Given the description of an element on the screen output the (x, y) to click on. 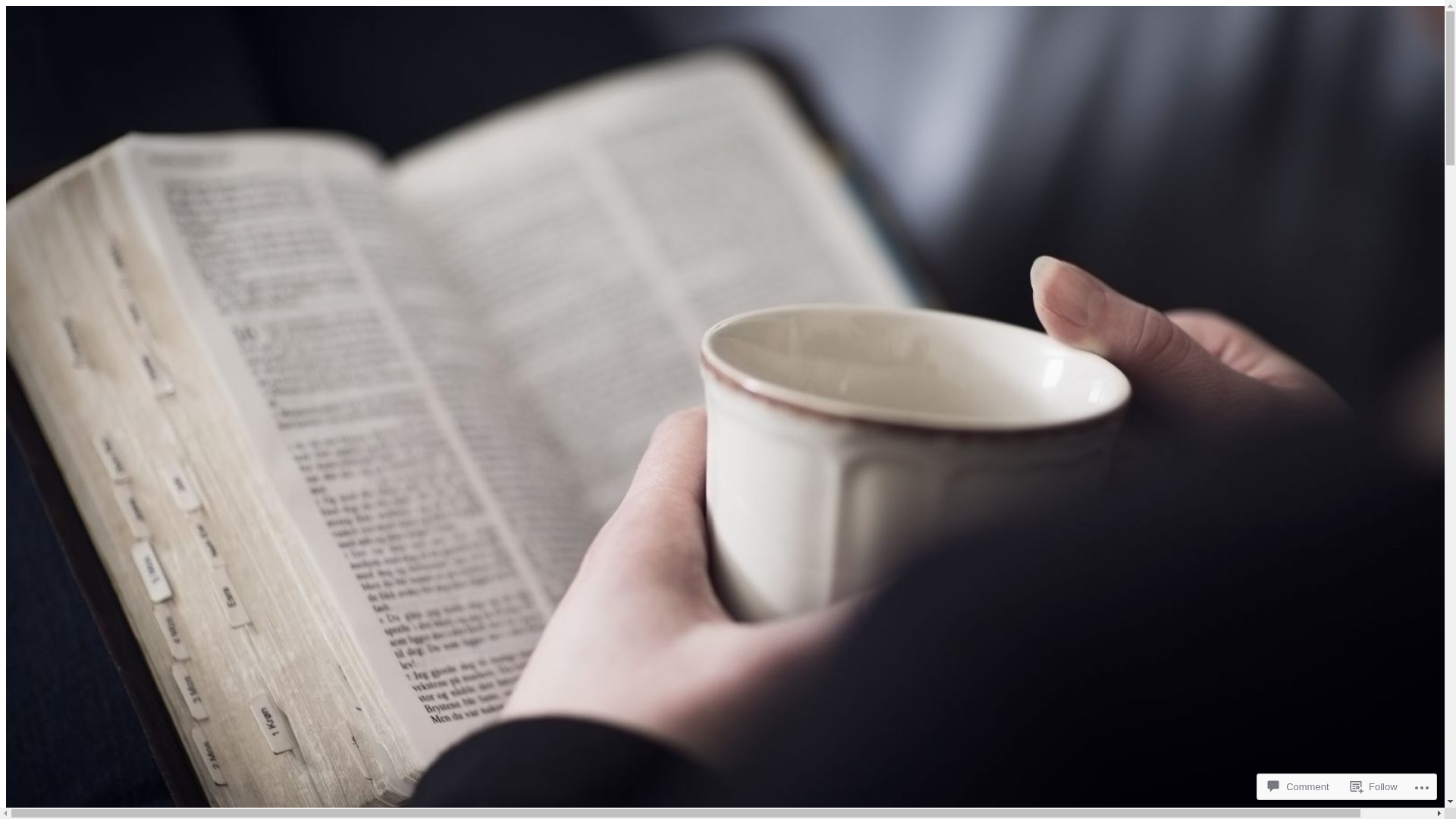
Skip to content Element type: text (5, 5)
Follow Element type: text (1373, 786)
Comment Element type: text (1297, 786)
